Given the description of an element on the screen output the (x, y) to click on. 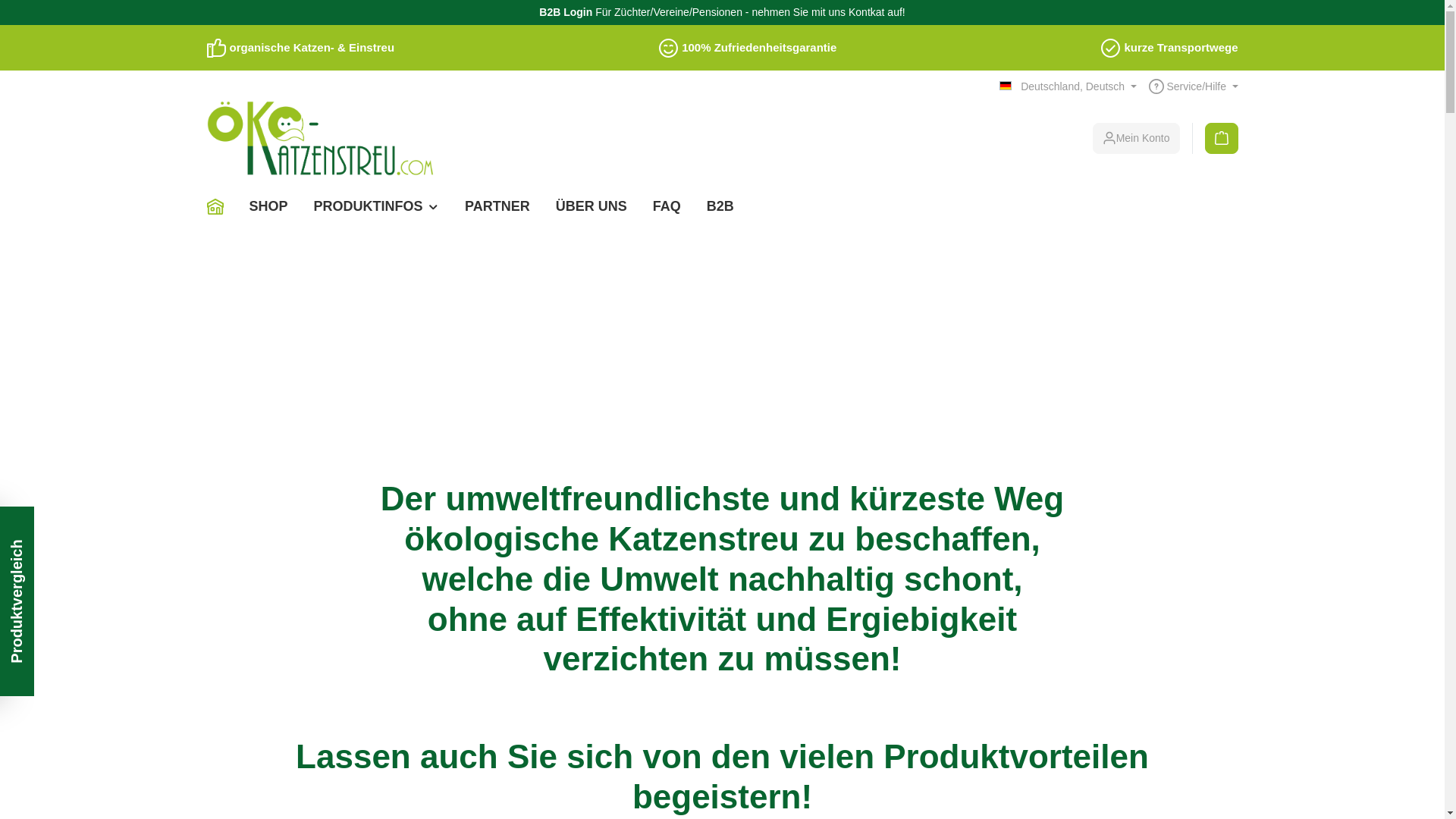
Deutschland, Deutsch Element type: text (1067, 86)
FAQ Element type: text (666, 206)
SHOP Element type: text (268, 206)
Warenkorb Element type: hover (1221, 138)
PARTNER Element type: text (496, 206)
Zur Startseite wechseln Element type: hover (319, 137)
PRODUKTINFOS Element type: text (376, 206)
Home Element type: hover (220, 206)
Mein Konto Element type: text (1135, 137)
B2B Element type: text (719, 206)
Service/Hilfe Element type: text (1193, 86)
